Given the description of an element on the screen output the (x, y) to click on. 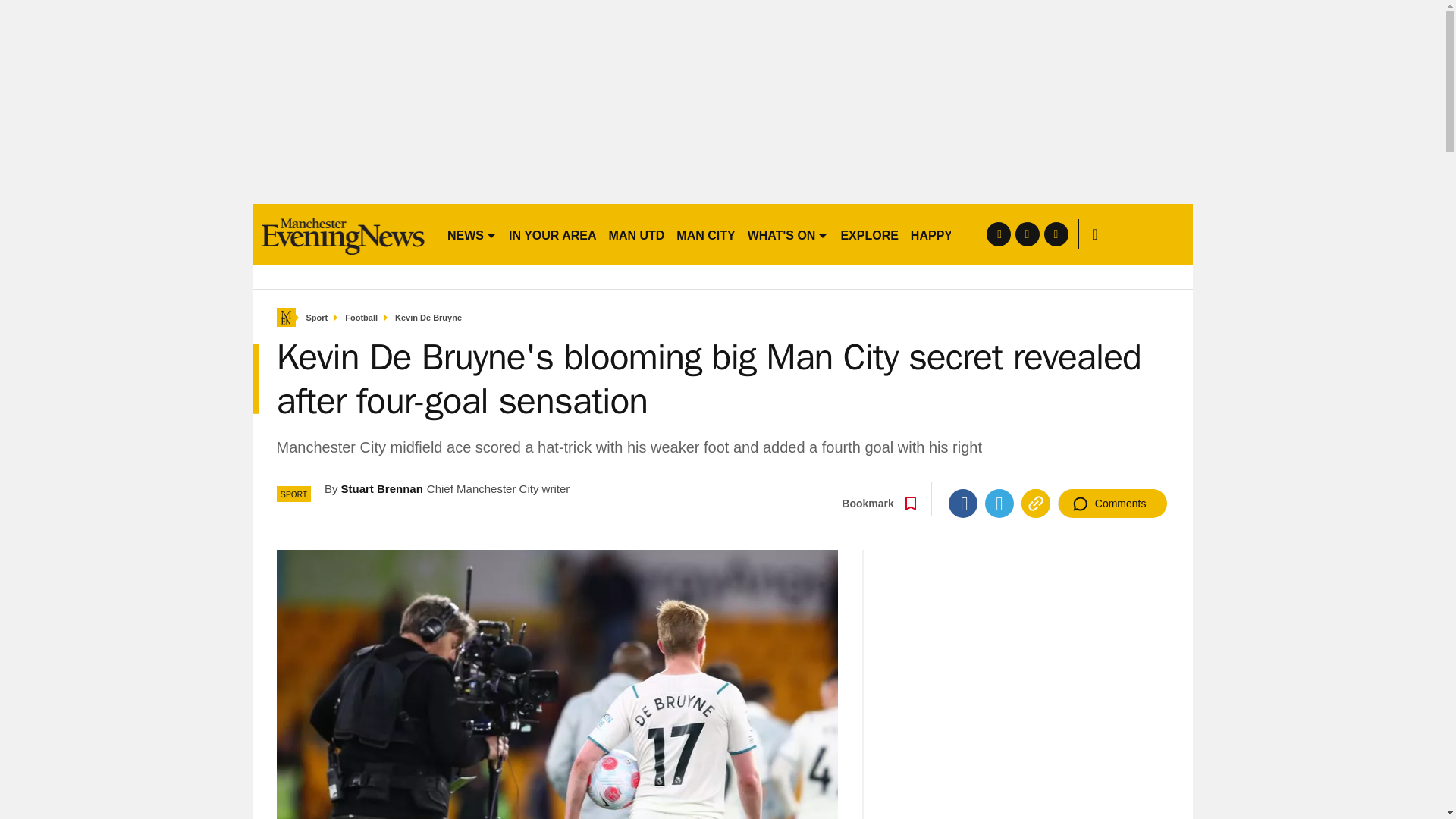
men (342, 233)
twitter (1026, 233)
Facebook (962, 502)
MAN UTD (636, 233)
instagram (1055, 233)
NEWS (471, 233)
MAN CITY (705, 233)
Comments (1112, 502)
WHAT'S ON (787, 233)
IN YOUR AREA (552, 233)
facebook (997, 233)
Twitter (999, 502)
